Given the description of an element on the screen output the (x, y) to click on. 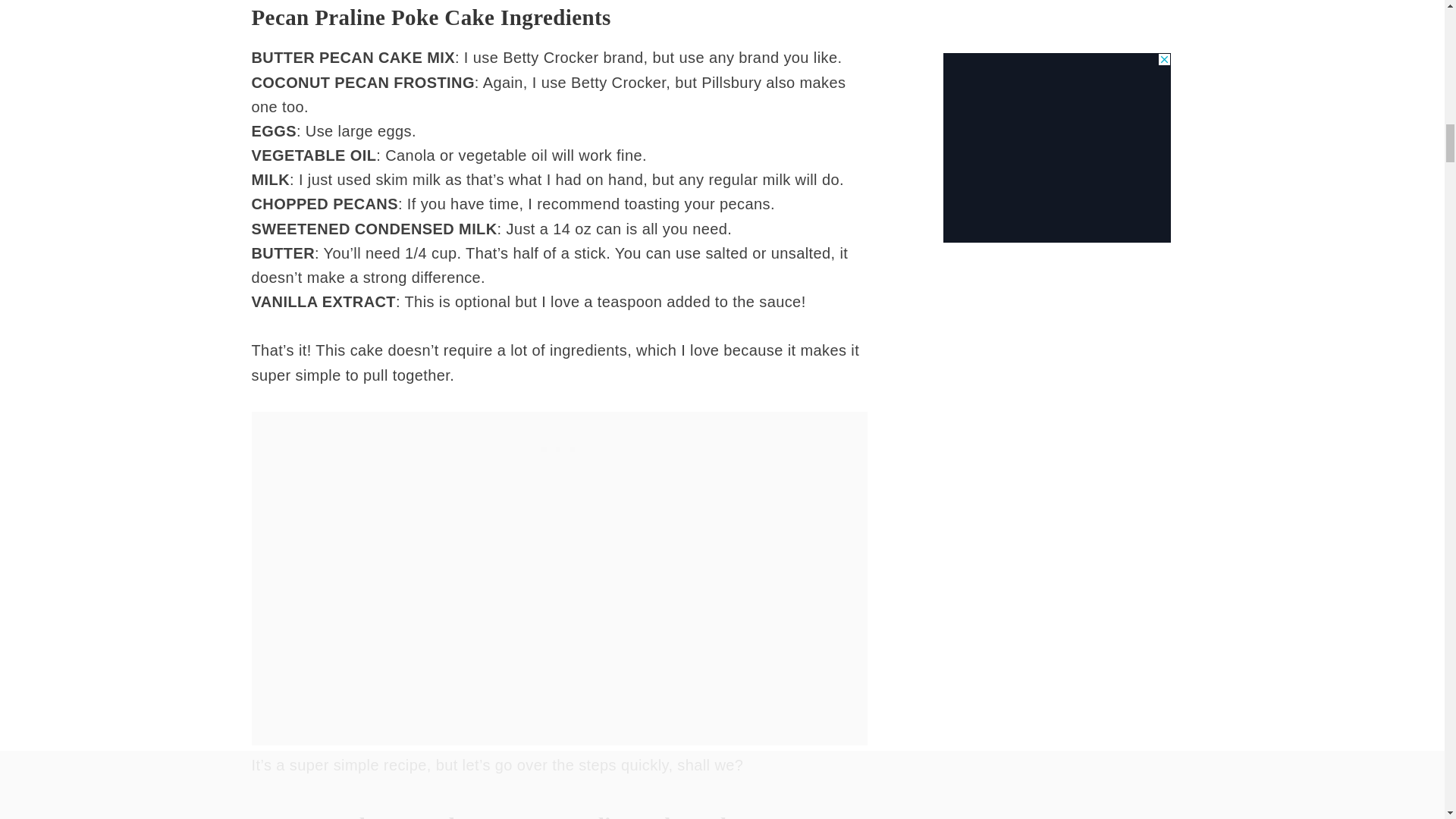
3rd party ad content (559, 445)
